Given the description of an element on the screen output the (x, y) to click on. 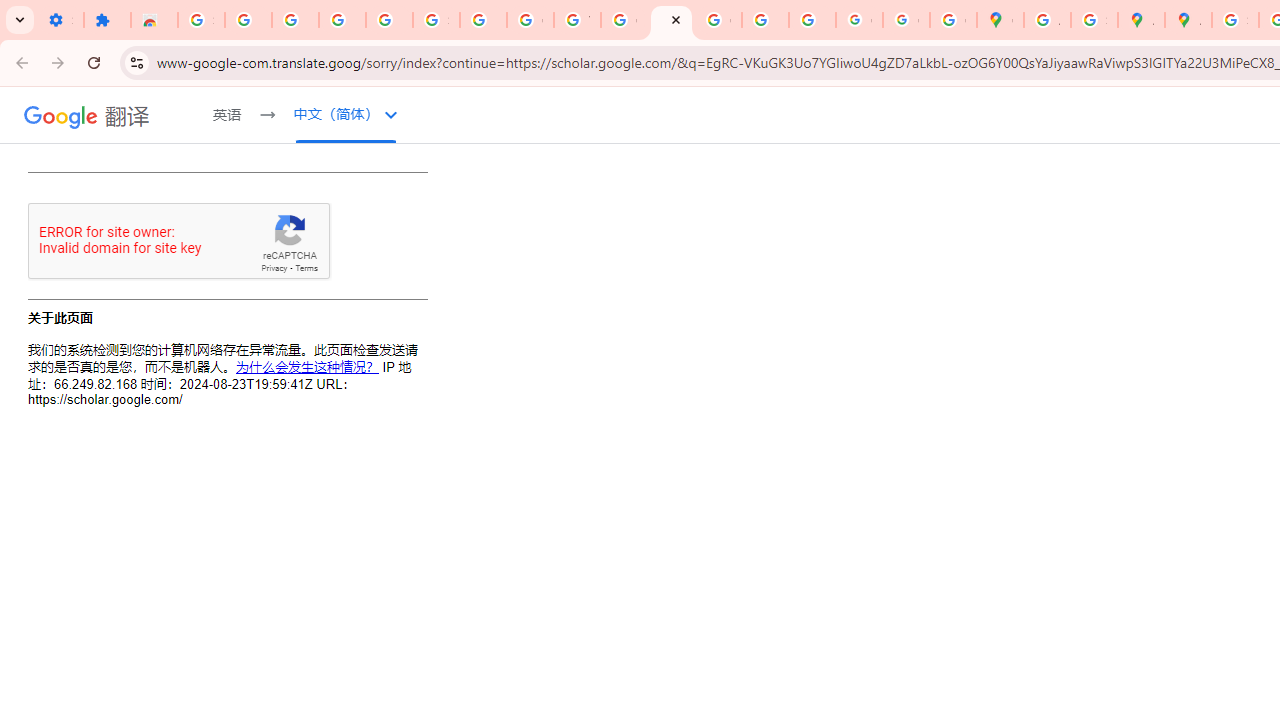
YouTube (577, 20)
Sign in - Google Accounts (1235, 20)
Google (61, 116)
Sign in - Google Accounts (201, 20)
Reviews: Helix Fruit Jump Arcade Game (153, 20)
